Given the description of an element on the screen output the (x, y) to click on. 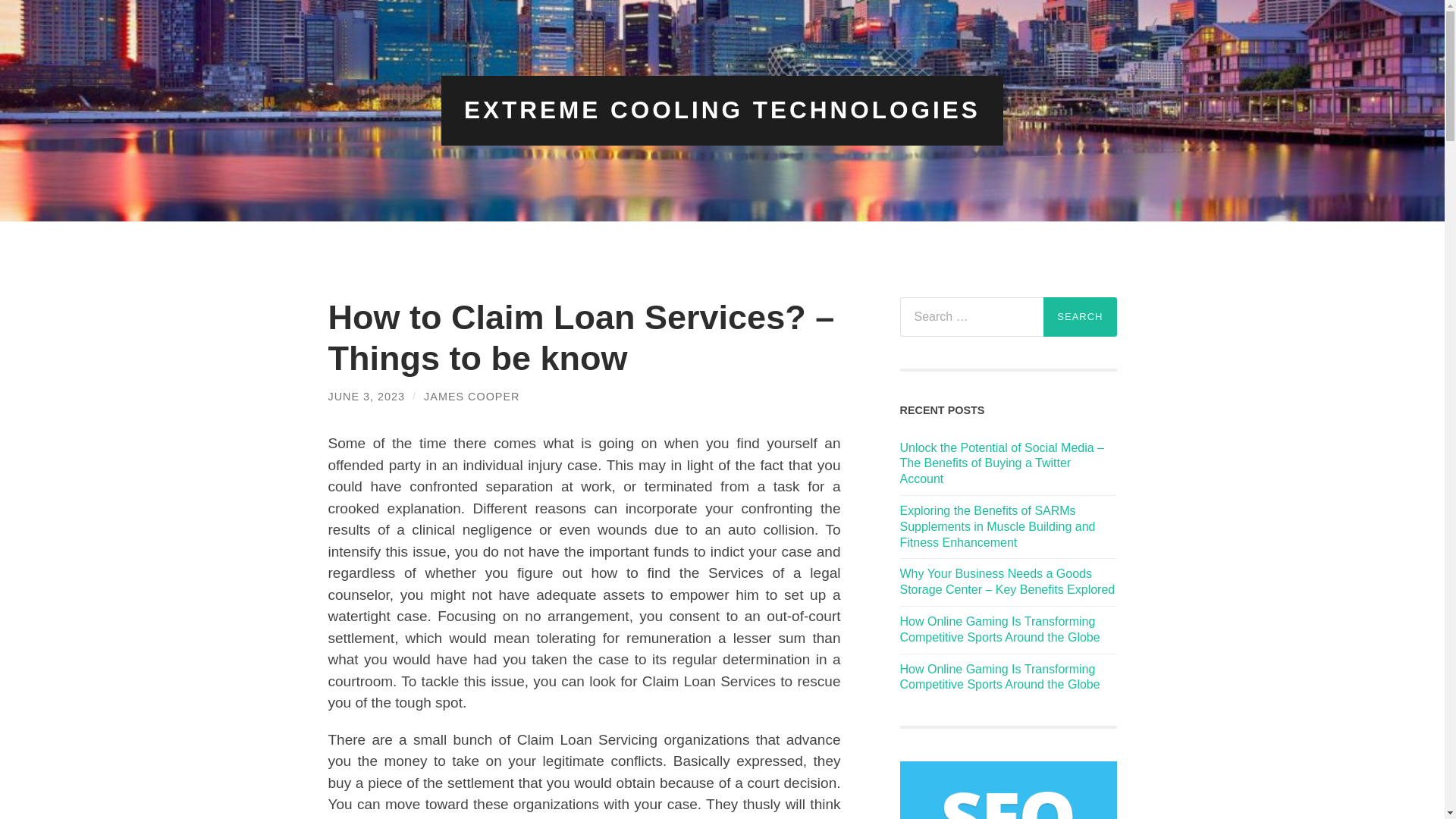
Posts by James Cooper (471, 395)
Search (1079, 316)
Search (1079, 316)
JUNE 3, 2023 (365, 395)
EXTREME COOLING TECHNOLOGIES (721, 109)
JAMES COOPER (471, 395)
Search (1079, 316)
